Given the description of an element on the screen output the (x, y) to click on. 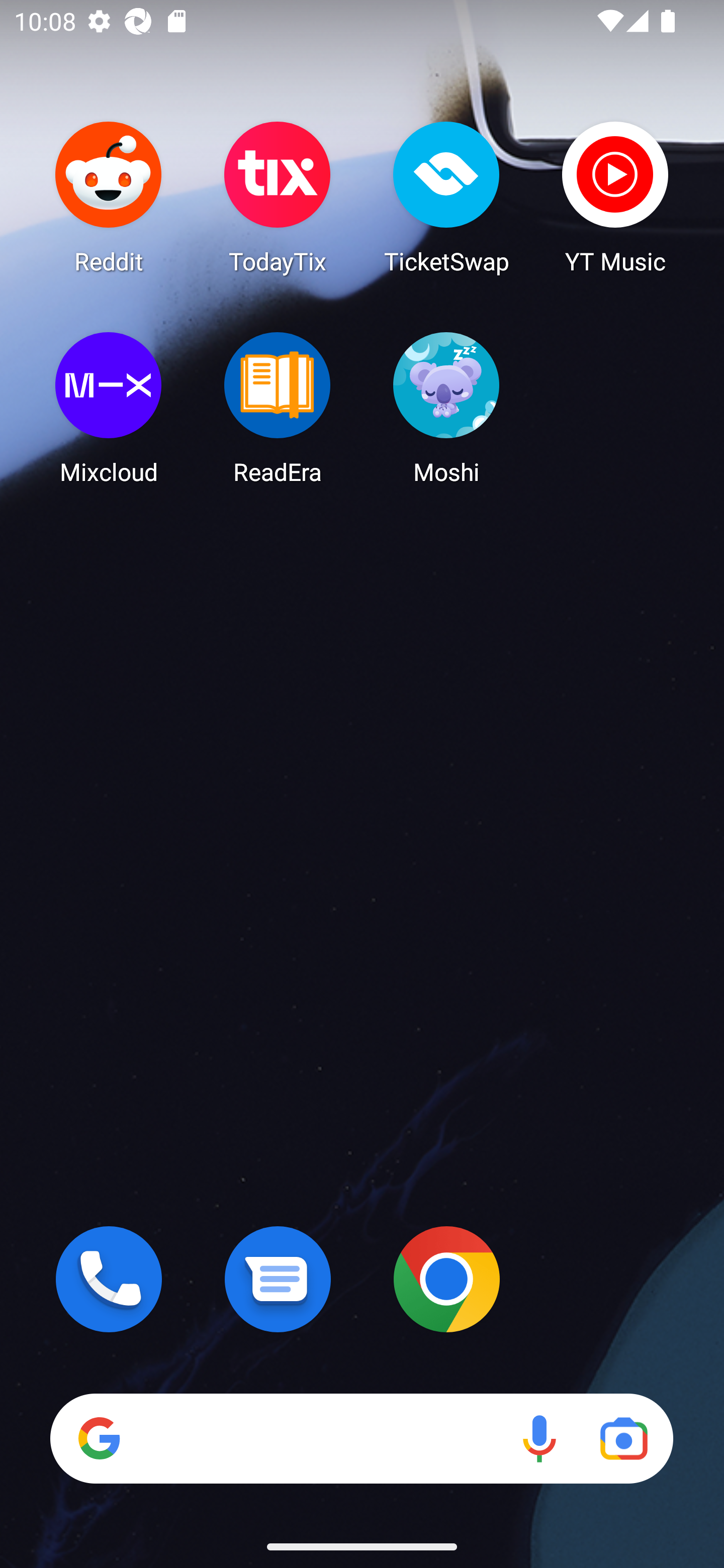
Reddit (108, 196)
TodayTix (277, 196)
TicketSwap (445, 196)
YT Music (615, 196)
Mixcloud (108, 407)
ReadEra (277, 407)
Moshi (445, 407)
Phone (108, 1279)
Messages (277, 1279)
Chrome (446, 1279)
Search Voice search Google Lens (361, 1438)
Voice search (539, 1438)
Google Lens (623, 1438)
